Given the description of an element on the screen output the (x, y) to click on. 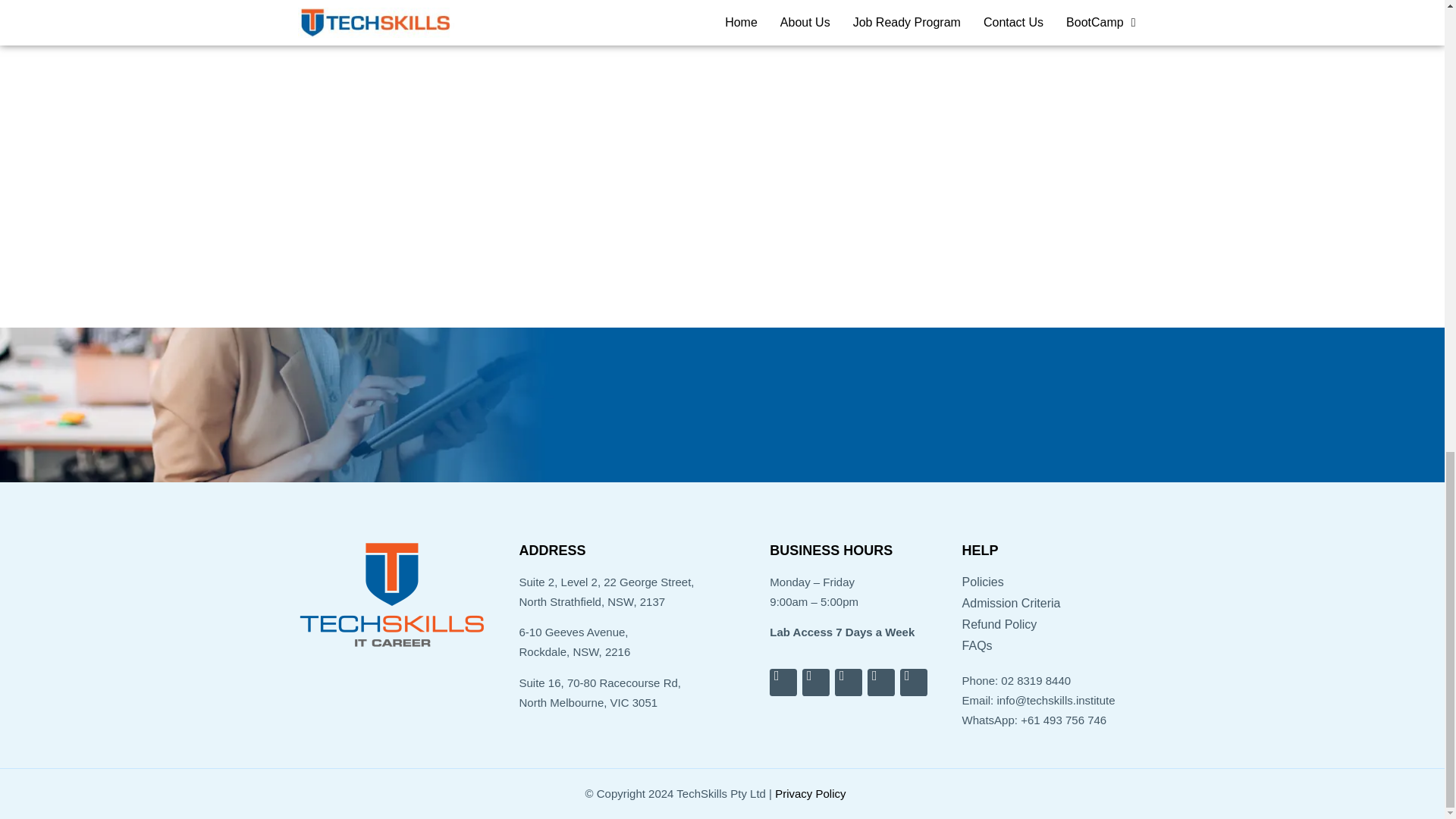
techskills-it-logo (391, 595)
